Given the description of an element on the screen output the (x, y) to click on. 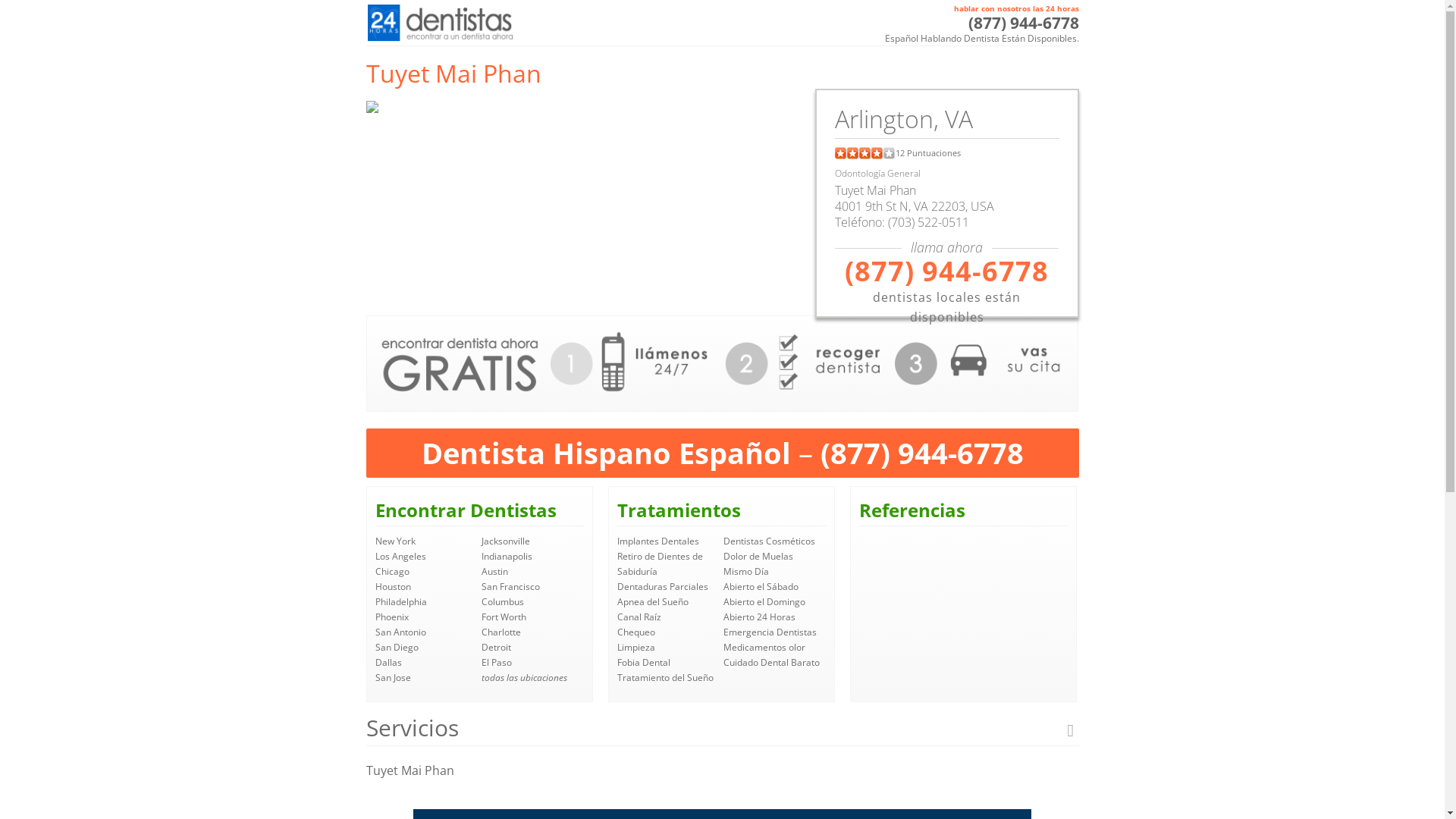
Detroit Element type: text (496, 646)
Abierto 24 Horas Element type: text (759, 616)
San Antonio Element type: text (399, 631)
San Francisco Element type: text (510, 586)
Los Angeles Element type: text (399, 555)
Emergencia Dentistas Element type: text (769, 631)
Cuidado Dental Barato Element type: text (771, 661)
Houston Element type: text (392, 586)
Philadelphia Element type: text (400, 601)
New York Element type: text (394, 540)
Jacksonville Element type: text (505, 540)
Dolor de Muelas Element type: text (758, 555)
San Diego Element type: text (395, 646)
Indianapolis Element type: text (506, 555)
Columbus Element type: text (502, 601)
Fort Worth Element type: text (503, 616)
Chequeo Element type: text (636, 631)
Fobia Dental Element type: text (643, 661)
Limpieza Element type: text (636, 646)
San Jose Element type: text (392, 677)
Implantes Dentales Element type: text (658, 540)
Abierto el Domingo Element type: text (764, 601)
Chicago Element type: text (391, 570)
Phoenix Element type: text (390, 616)
El Paso Element type: text (496, 661)
Dallas Element type: text (387, 661)
Austin Element type: text (494, 570)
Dentaduras Parciales Element type: text (662, 586)
Servicios Element type: text (721, 727)
todas las ubicaciones Element type: text (524, 677)
Medicamentos olor Element type: text (764, 646)
Charlotte Element type: text (500, 631)
